Given the description of an element on the screen output the (x, y) to click on. 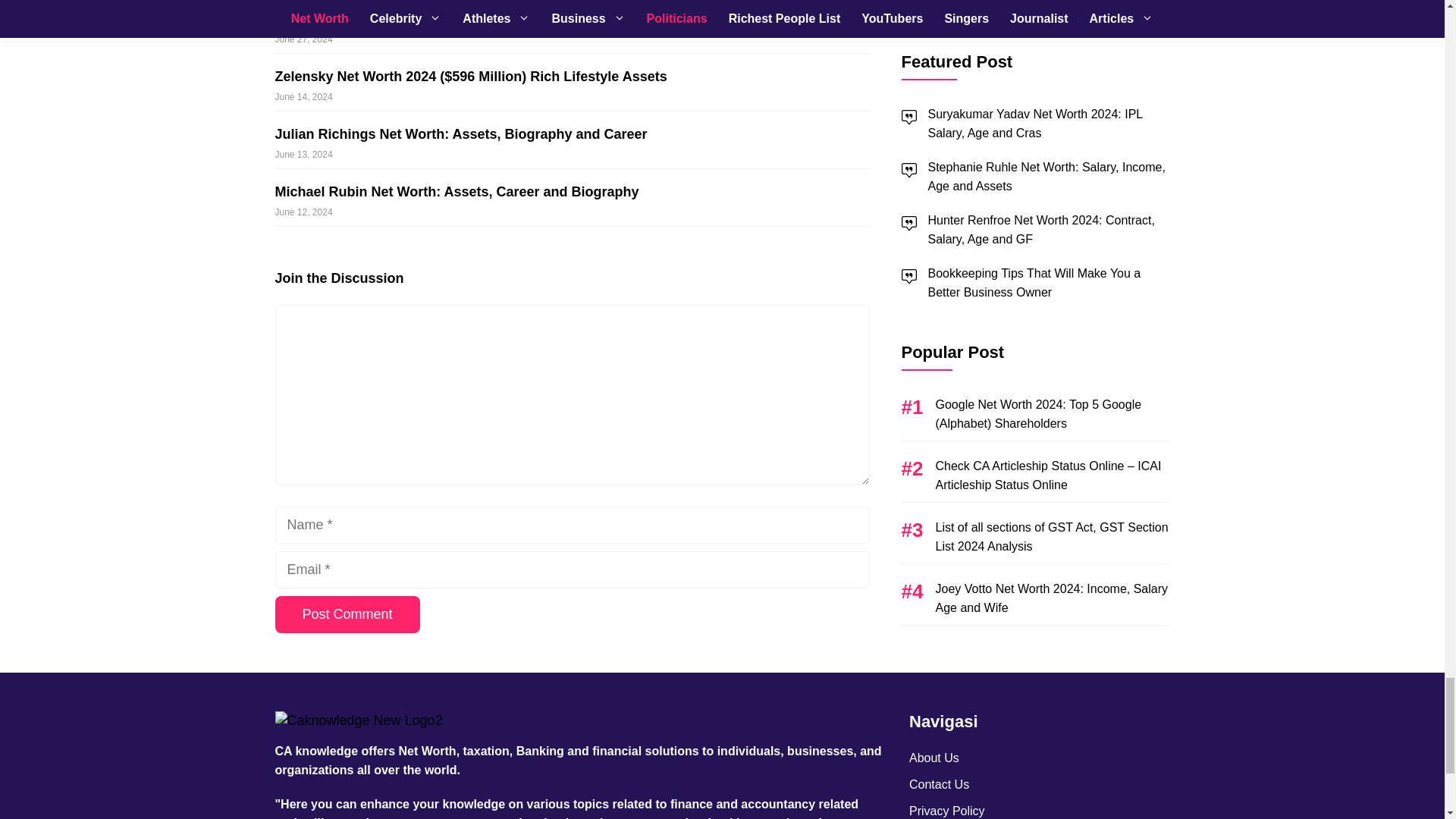
Post Comment (347, 614)
